Given the description of an element on the screen output the (x, y) to click on. 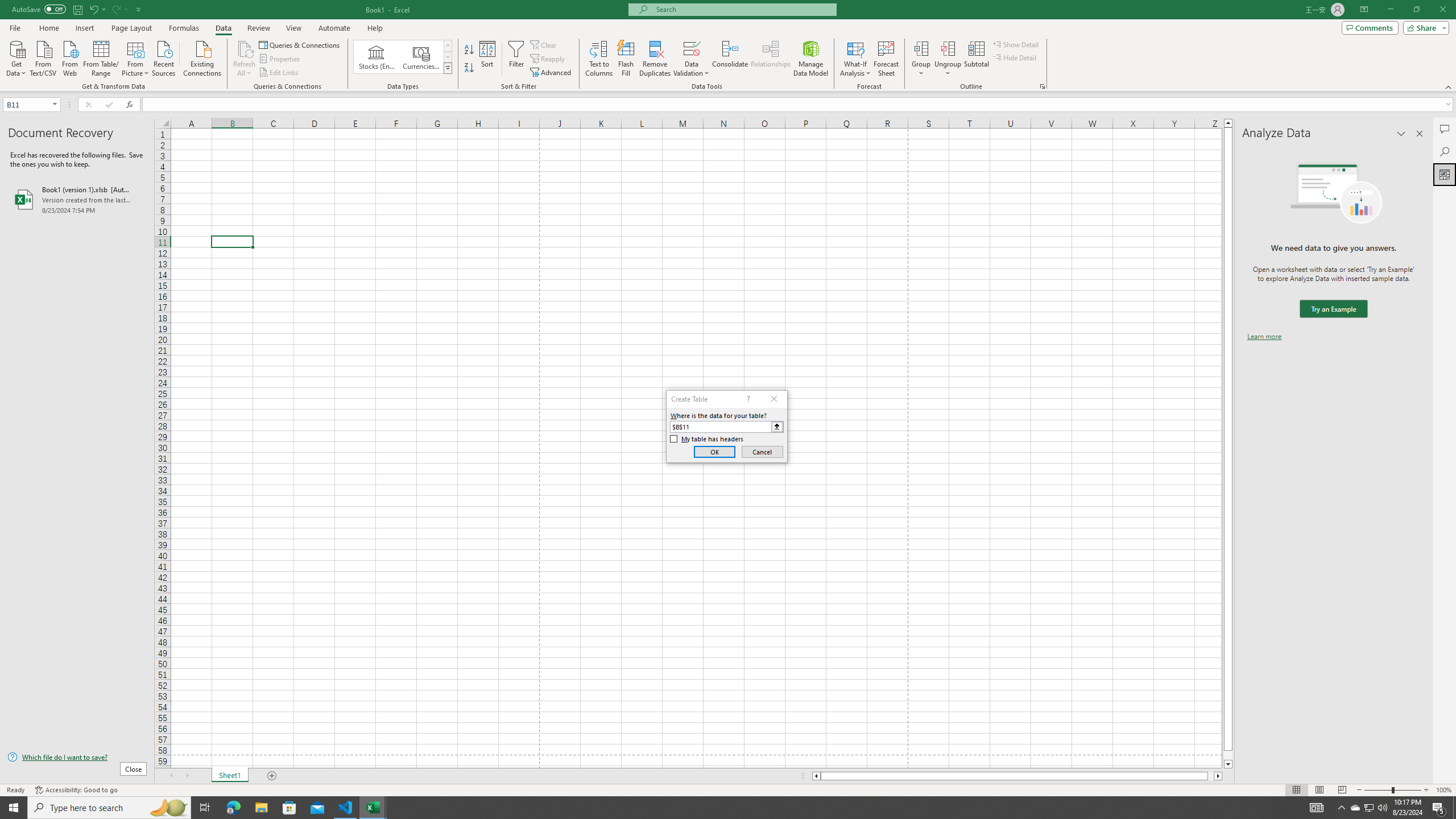
Subtotal (976, 58)
Group... (921, 58)
Advanced... (551, 72)
Refresh All (244, 58)
Reapply (548, 58)
Ungroup... (947, 48)
Page right (1211, 775)
Clear (544, 44)
What-If Analysis (855, 58)
Task Pane Options (1400, 133)
